Given the description of an element on the screen output the (x, y) to click on. 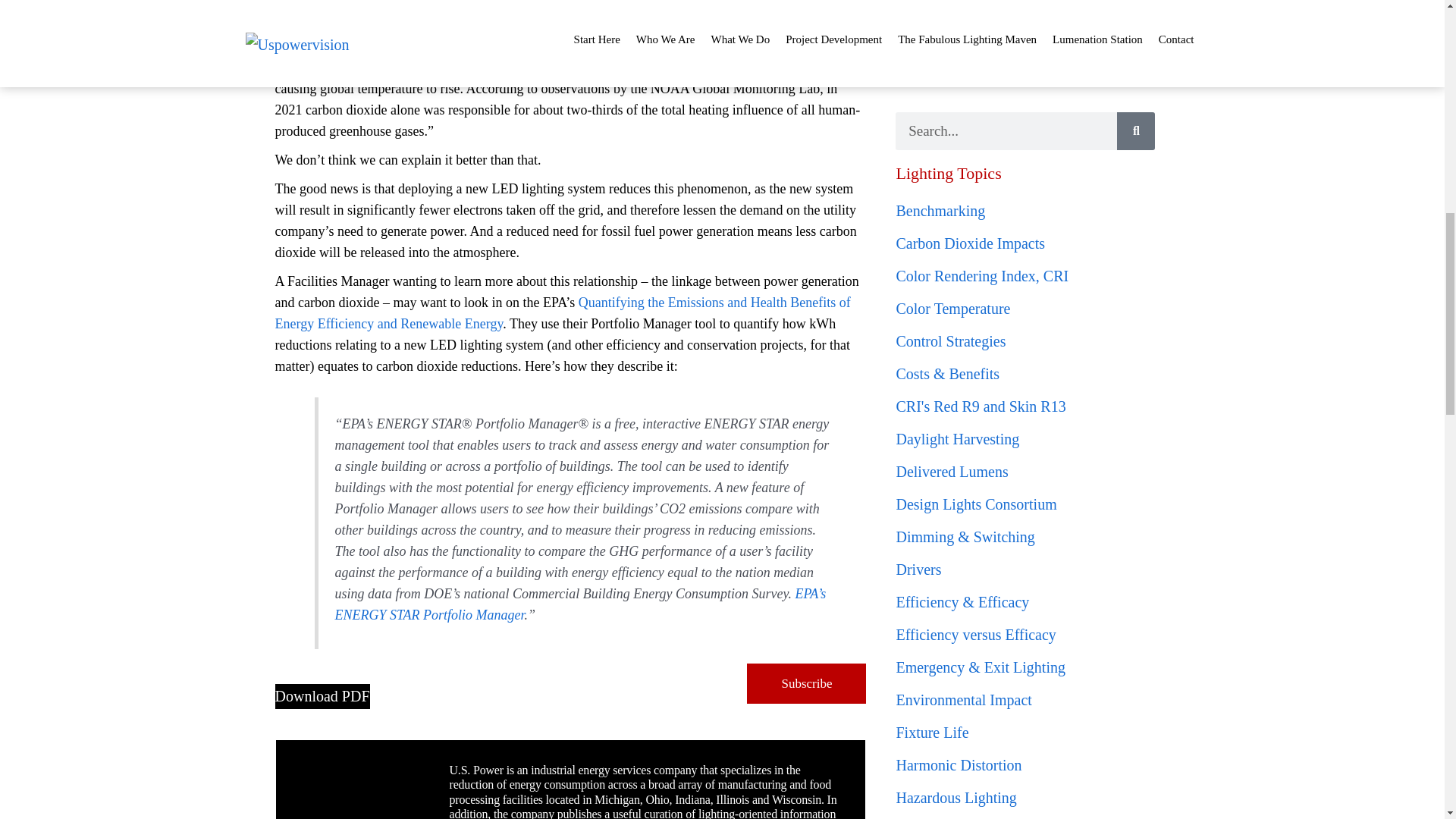
CRI's Red R9 and Skin R13 (980, 406)
Delivered Lumens (951, 471)
Color Temperature (952, 308)
Download PDF (322, 696)
Design Lights Consortium (976, 504)
Efficiency versus Efficacy (975, 634)
Fixture Life (931, 732)
Environmental Impact (962, 699)
CLICK HERE FOR MORE DRAMA (995, 76)
